Given the description of an element on the screen output the (x, y) to click on. 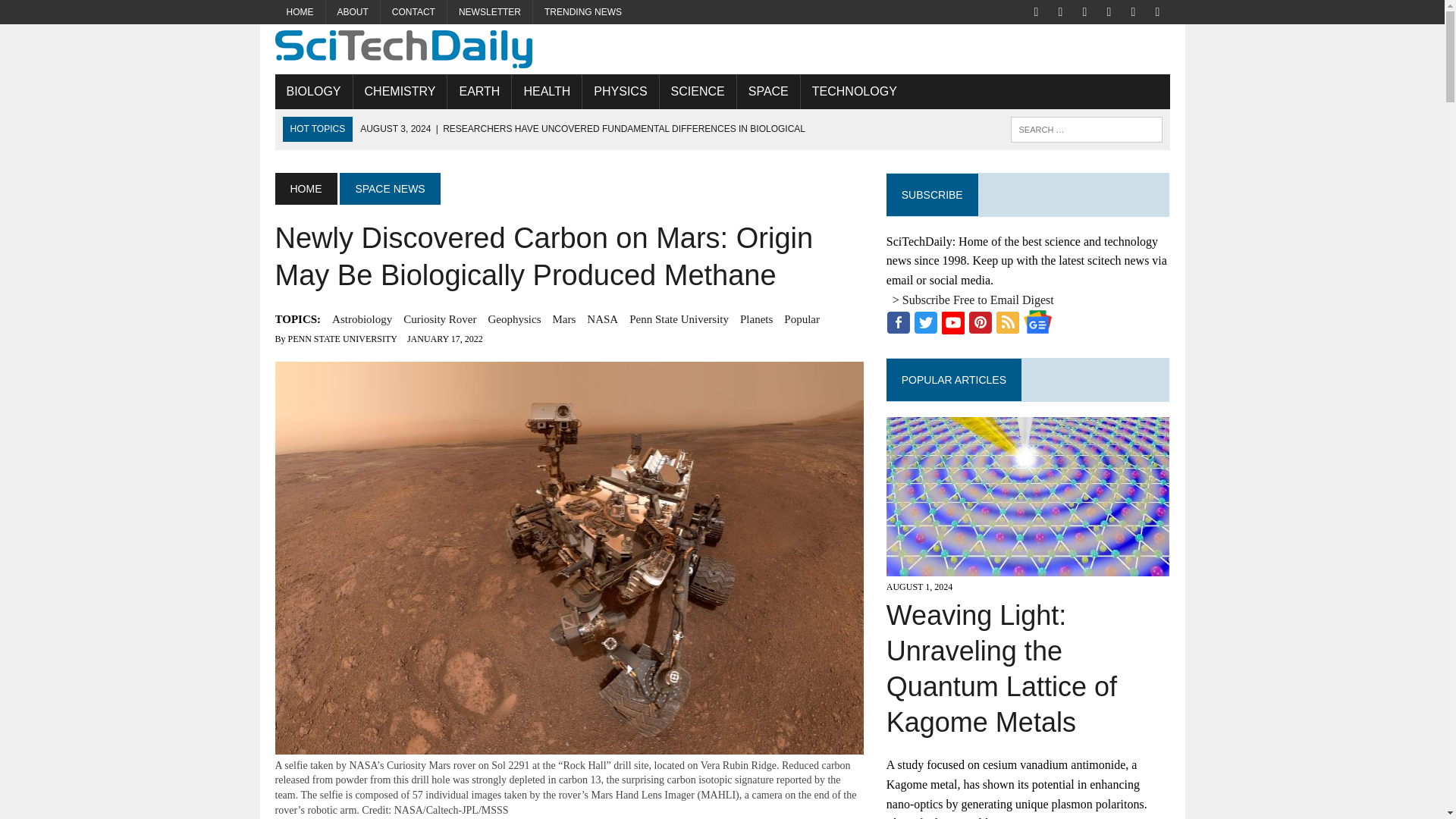
Mars (563, 319)
SPACE NEWS (389, 188)
SciTechDaily (722, 48)
Astrobiology (361, 319)
HEALTH (546, 91)
Penn State University (678, 319)
PHYSICS (620, 91)
NASA (601, 319)
ABOUT (353, 12)
Geophysics (514, 319)
BIOLOGY (313, 91)
EARTH (478, 91)
SPACE (767, 91)
CONTACT (413, 12)
Contact SciTechDaily.com (413, 12)
